Given the description of an element on the screen output the (x, y) to click on. 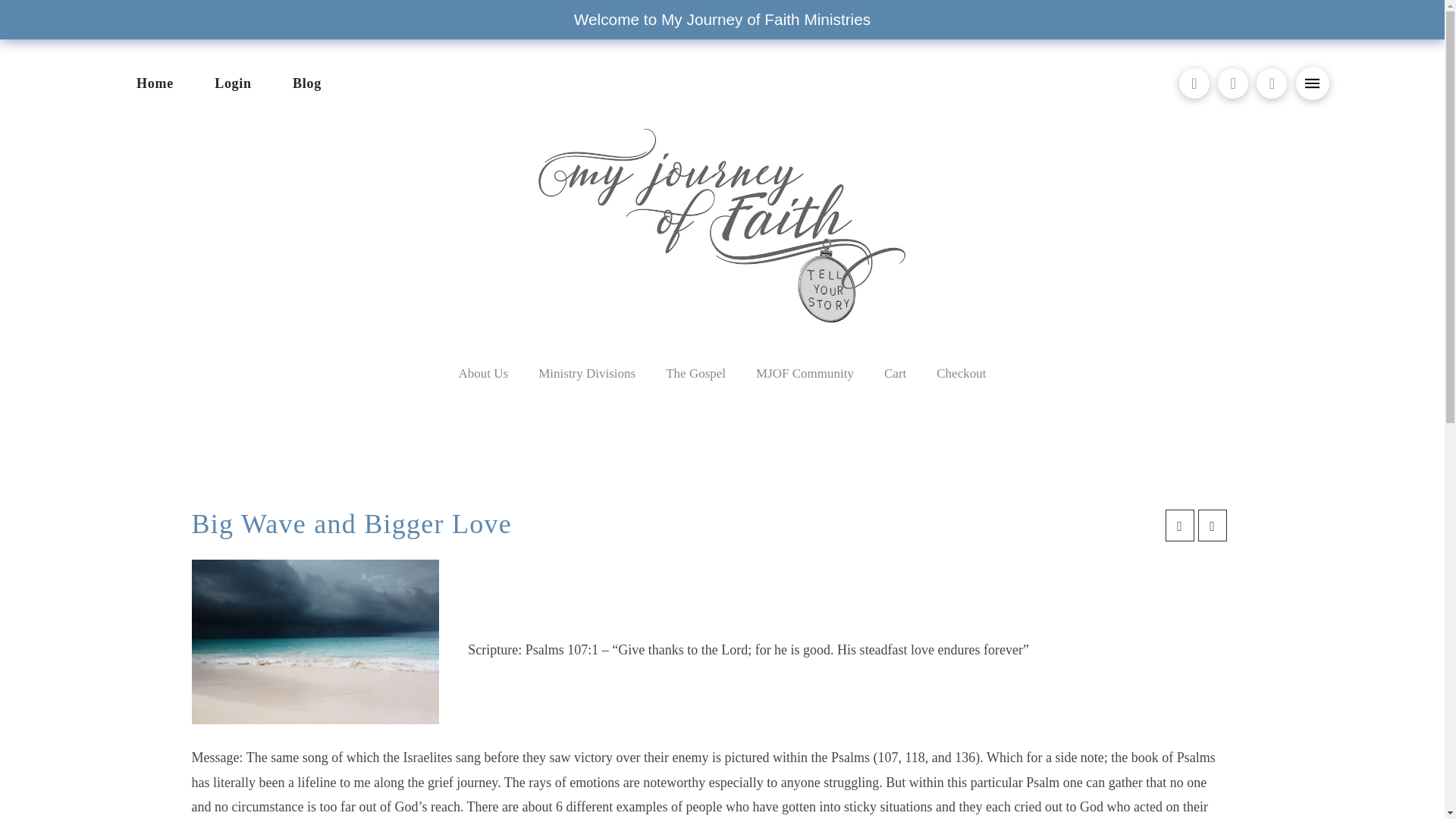
Checkout (961, 373)
Cart (895, 373)
Blog (307, 83)
Home (154, 83)
MJOF Community (805, 373)
Login (232, 83)
The Gospel (695, 373)
